Given the description of an element on the screen output the (x, y) to click on. 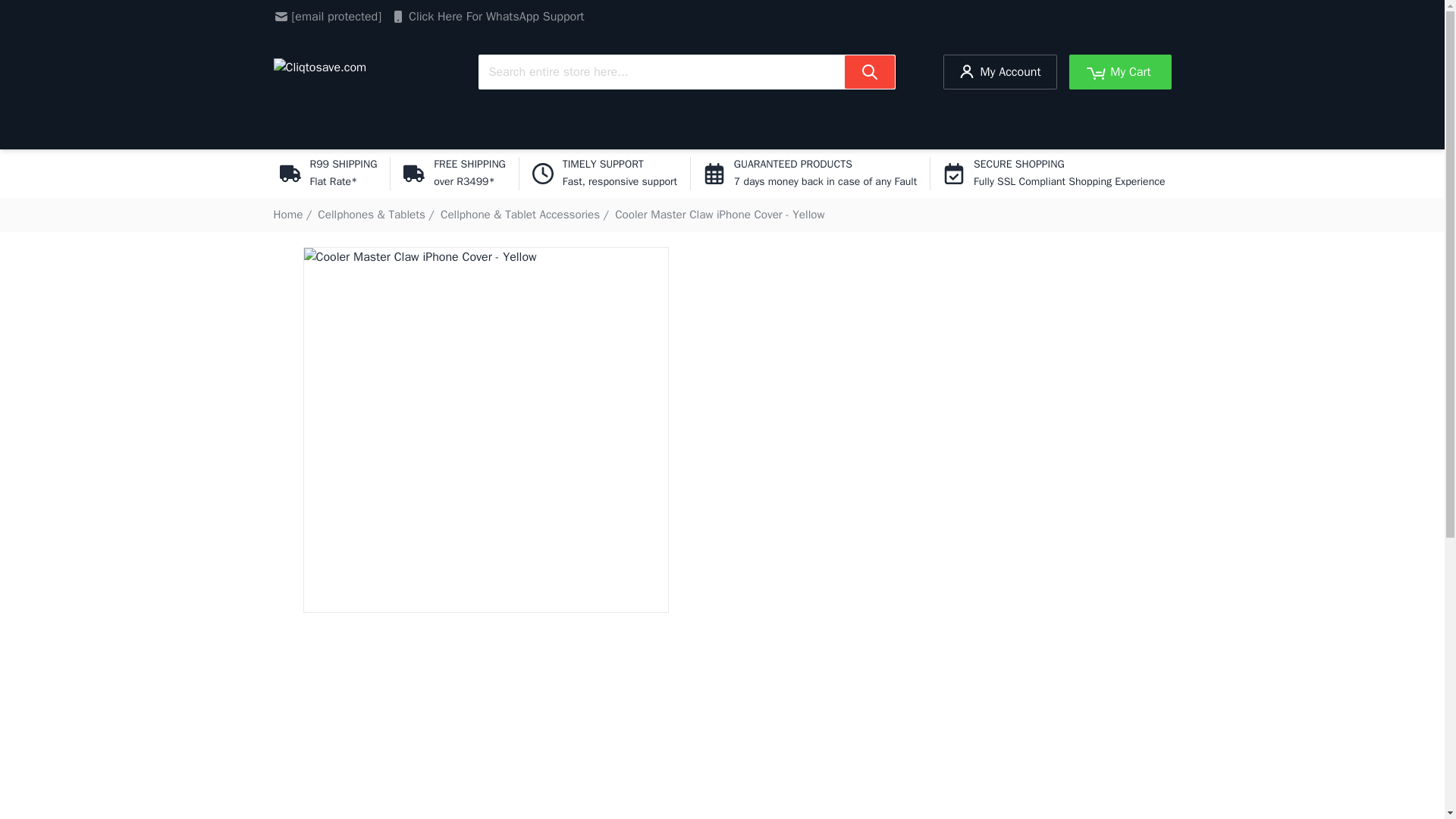
Search (869, 71)
My Cart (1120, 71)
Go to Home Page (287, 214)
Search (869, 71)
Cliqtosave.com (351, 71)
My Account (1000, 71)
Click Here For WhatsApp Support (486, 16)
My Account (1000, 71)
